Given the description of an element on the screen output the (x, y) to click on. 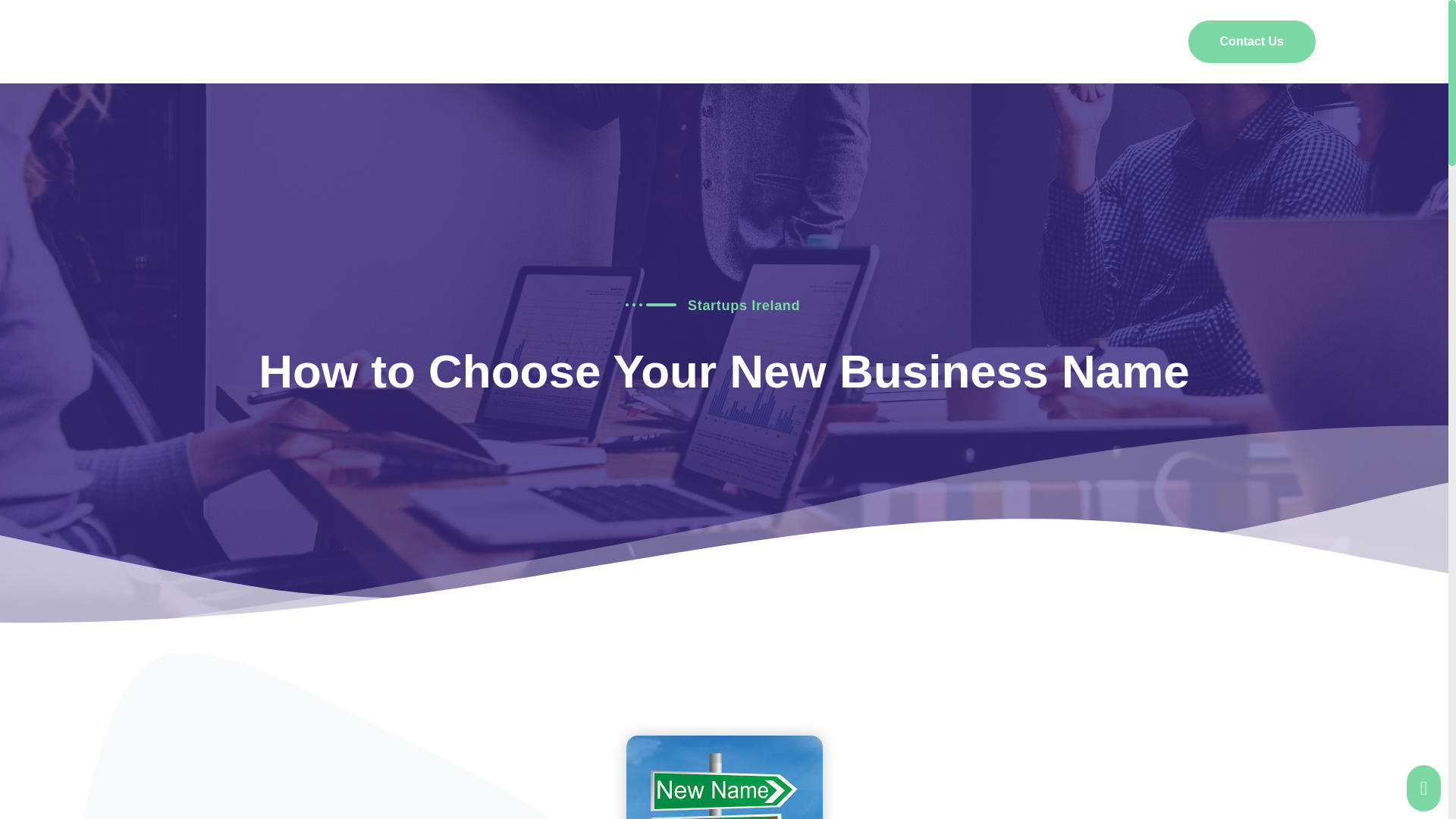
Startups (820, 41)
Awards (1136, 41)
Blog (748, 41)
Startups.ie (281, 41)
Quick Start (911, 41)
About (686, 41)
Contact Us (1252, 41)
